Given the description of an element on the screen output the (x, y) to click on. 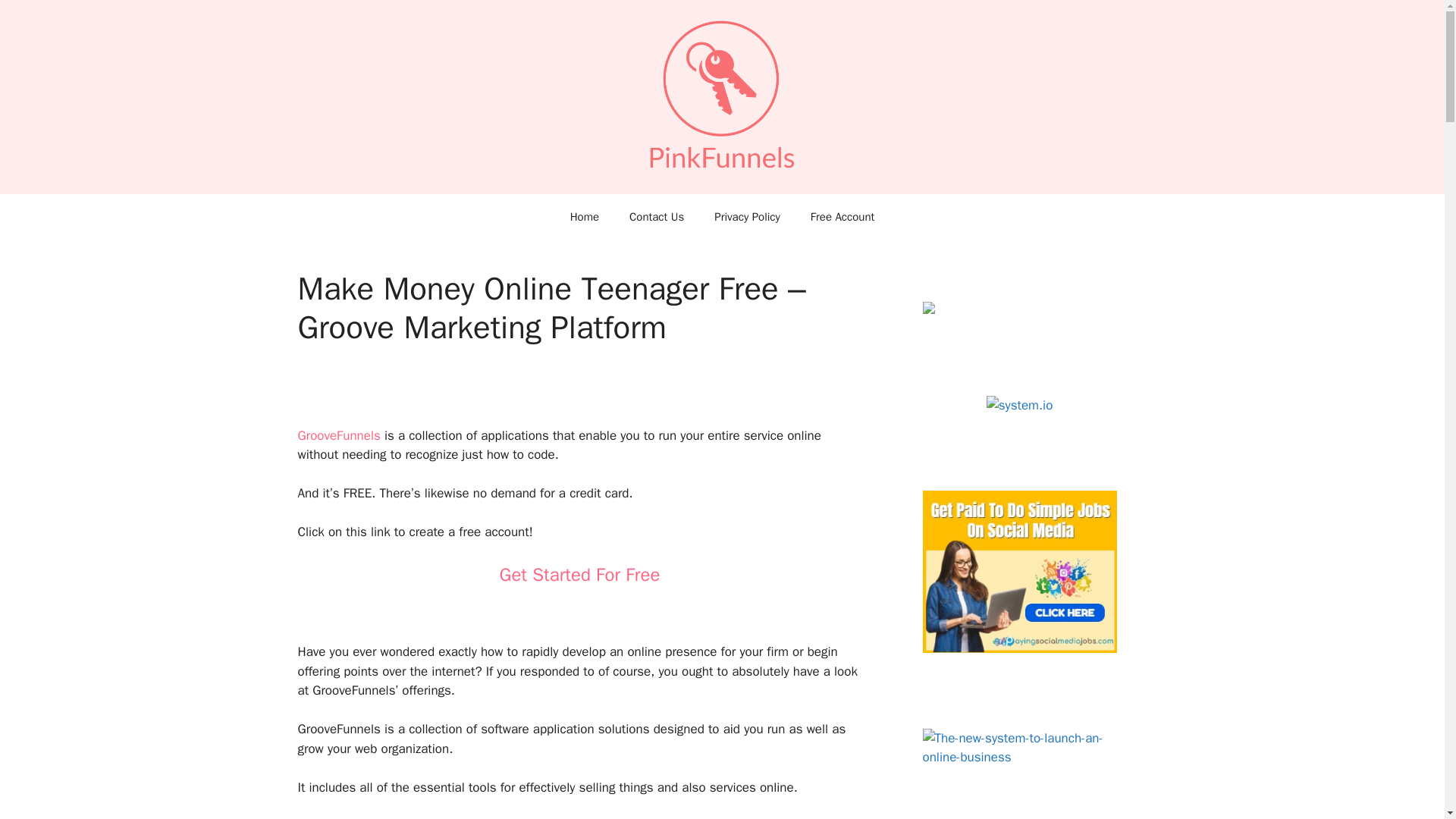
Home (584, 216)
GrooveFunnels (338, 435)
Get Started For Free (580, 574)
Free Account (841, 216)
Contact Us (656, 216)
Privacy Policy (746, 216)
